Given the description of an element on the screen output the (x, y) to click on. 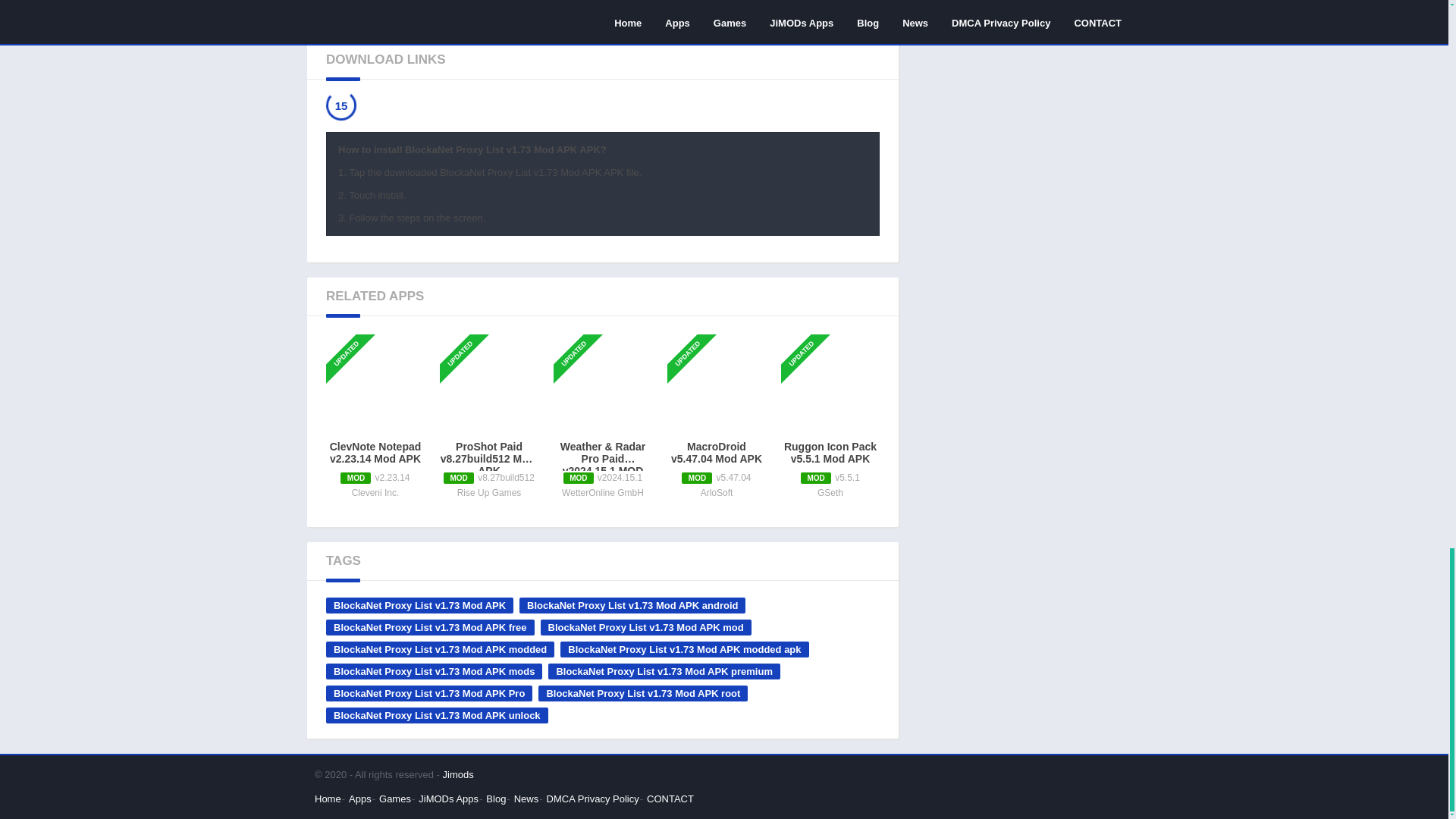
Next (881, 5)
Previous (323, 5)
